Given the description of an element on the screen output the (x, y) to click on. 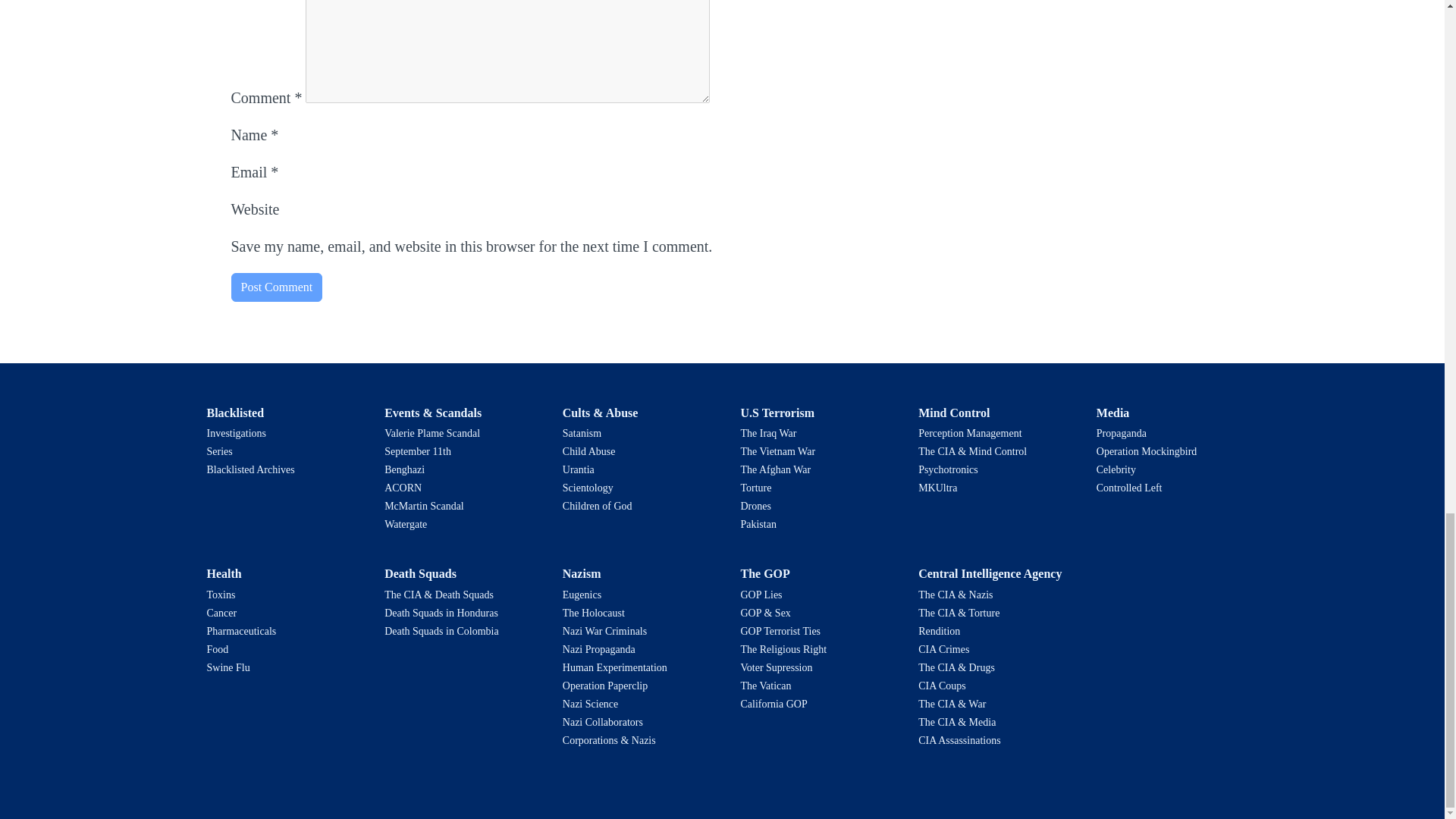
Post Comment (275, 287)
